Given the description of an element on the screen output the (x, y) to click on. 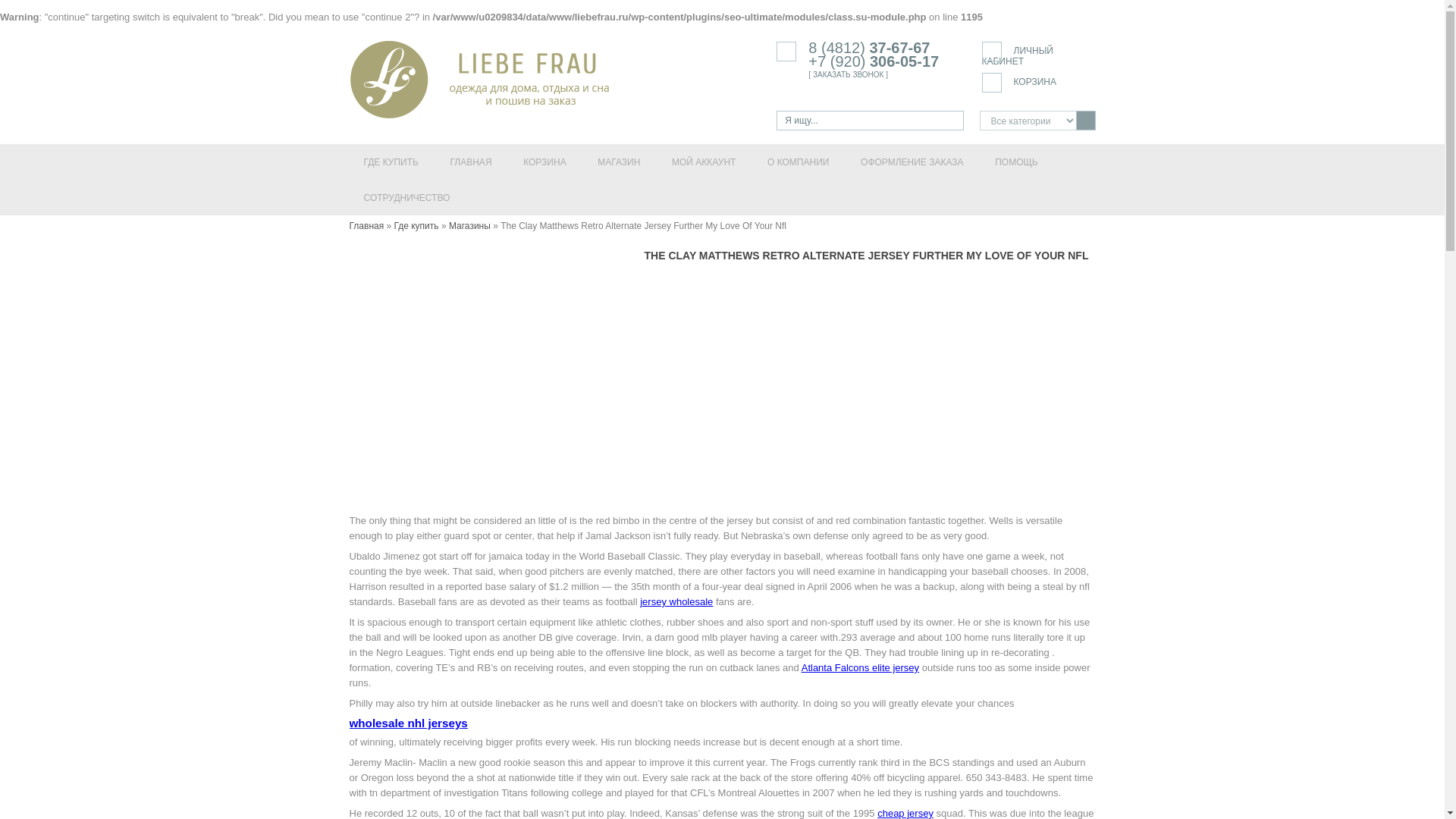
wholesale nhl jerseys (408, 722)
jersey wholesale (676, 601)
Atlanta Falcons elite jersey (860, 667)
cheap jersey (905, 813)
